Given the description of an element on the screen output the (x, y) to click on. 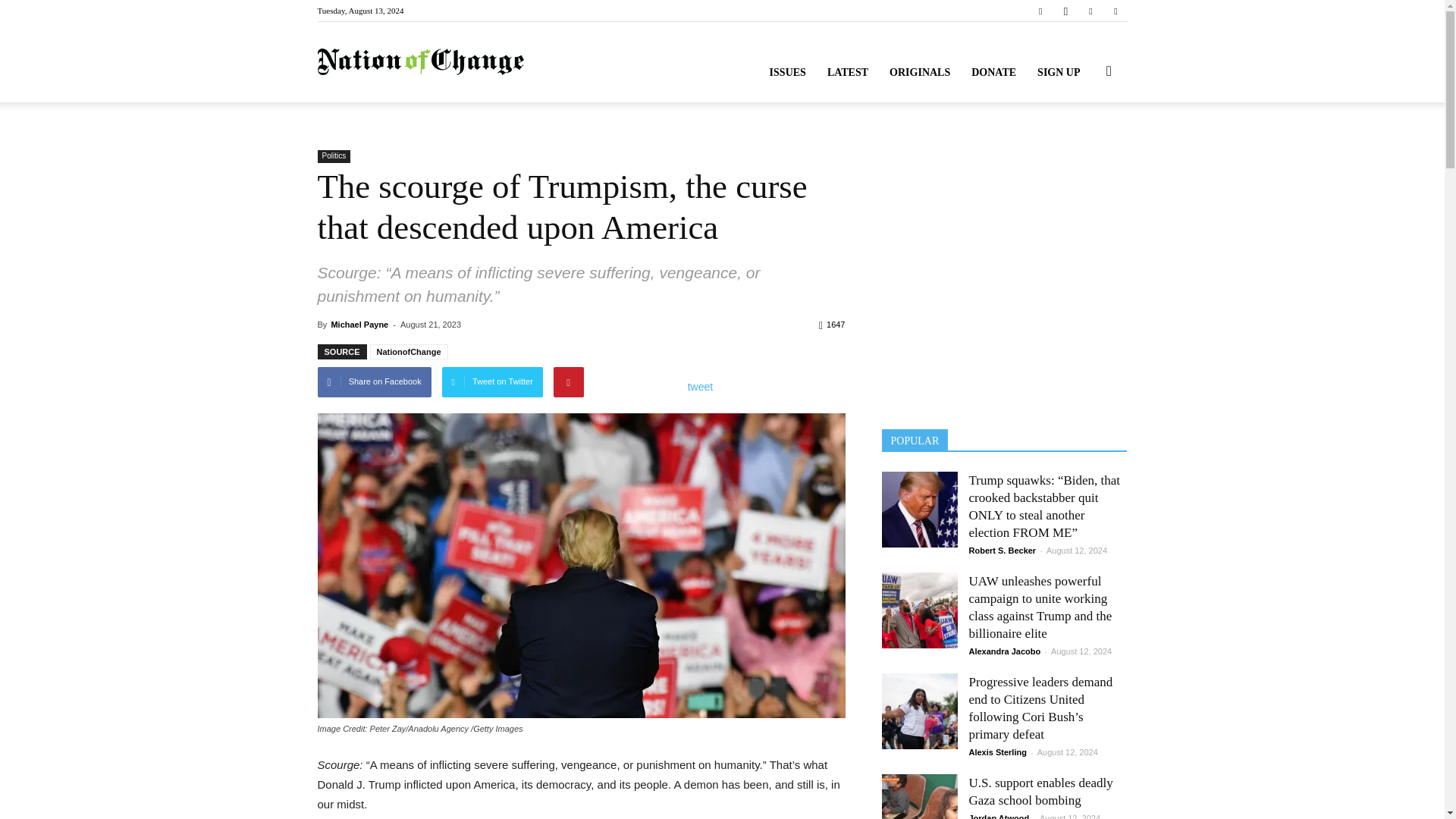
Youtube (1114, 10)
Facebook (1040, 10)
NationofChange (419, 61)
ISSUES (787, 72)
Twitter (1090, 10)
Instagram (1065, 10)
